Given the description of an element on the screen output the (x, y) to click on. 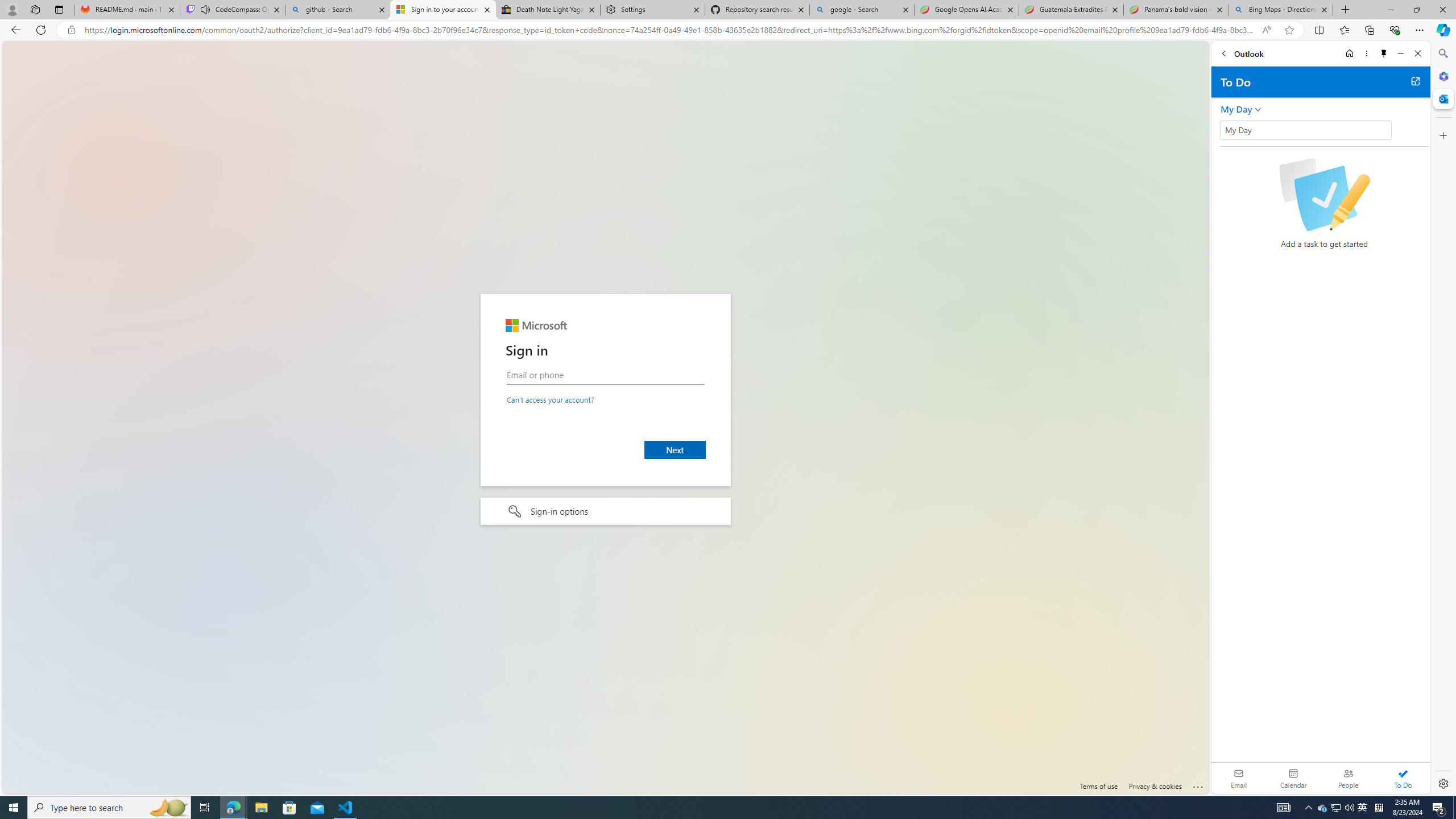
Enter your email or phone (605, 374)
Next (675, 449)
Mute tab (204, 8)
Google Opens AI Academy for Startups - Nearshore Americas (966, 9)
People (1347, 777)
